Given the description of an element on the screen output the (x, y) to click on. 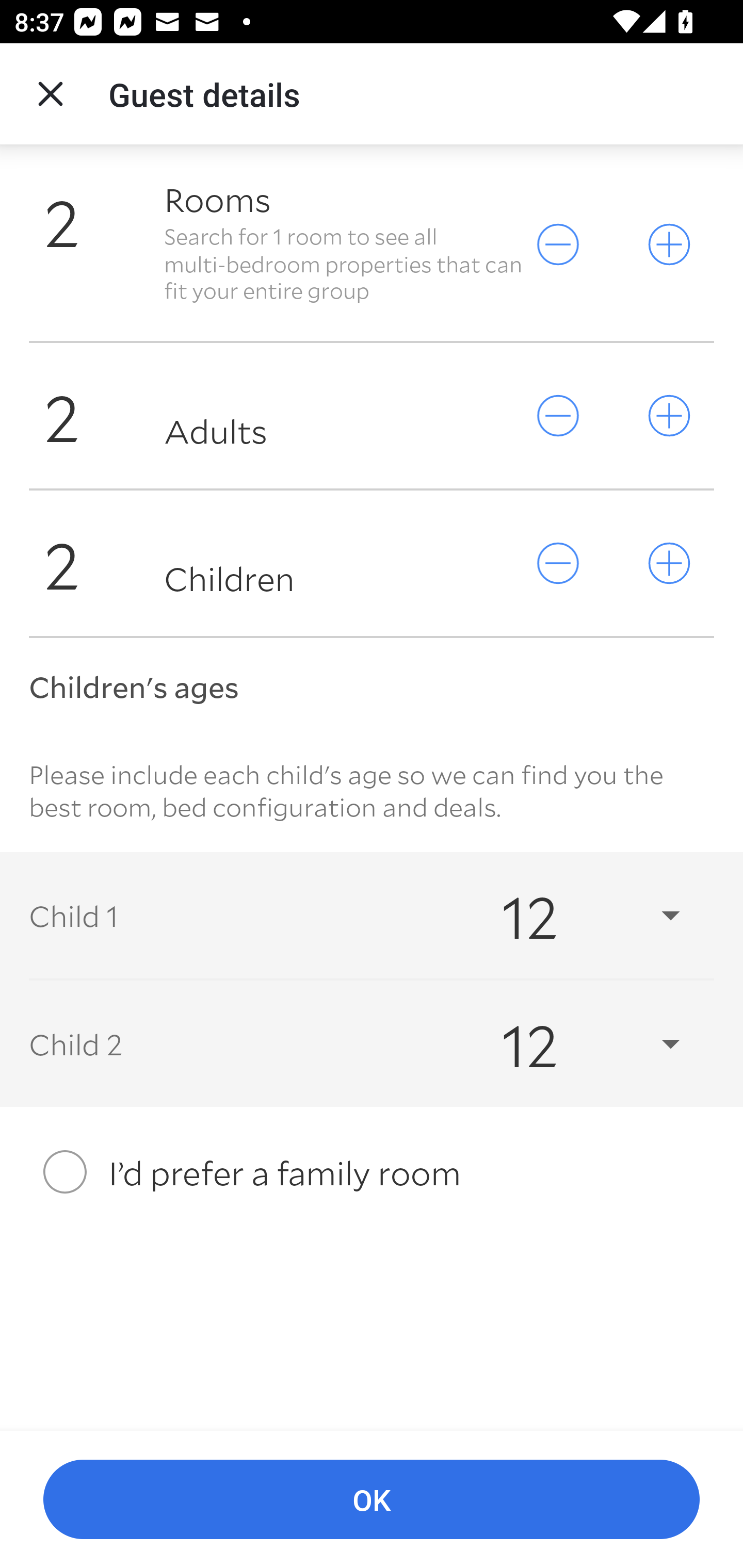
12 (573, 914)
12 (573, 1043)
I’d prefer a family room (371, 1172)
OK (371, 1499)
